Given the description of an element on the screen output the (x, y) to click on. 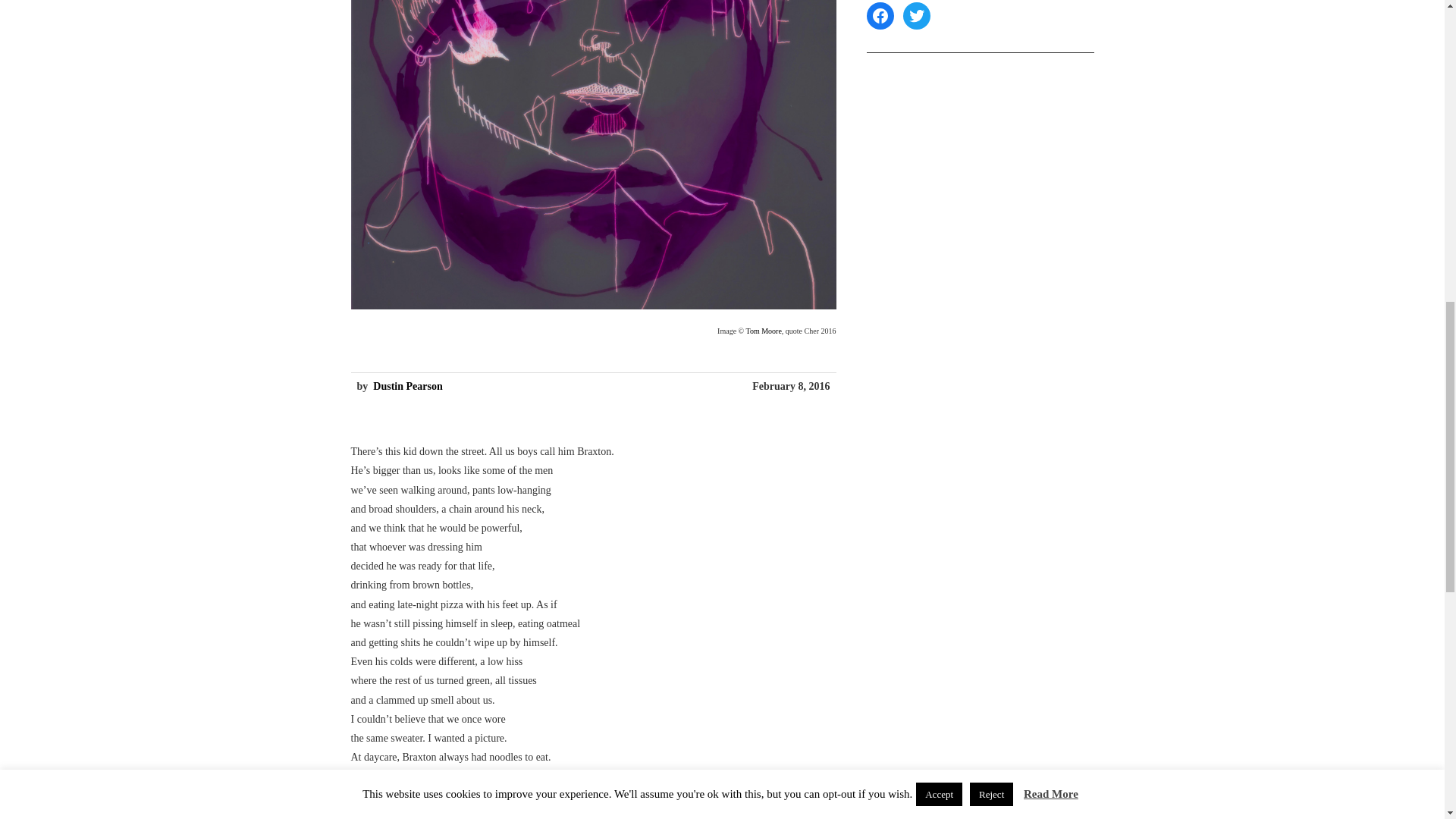
Dustin Pearson (407, 386)
Tom Moore (762, 330)
Twitter (916, 15)
Facebook (879, 15)
